Given the description of an element on the screen output the (x, y) to click on. 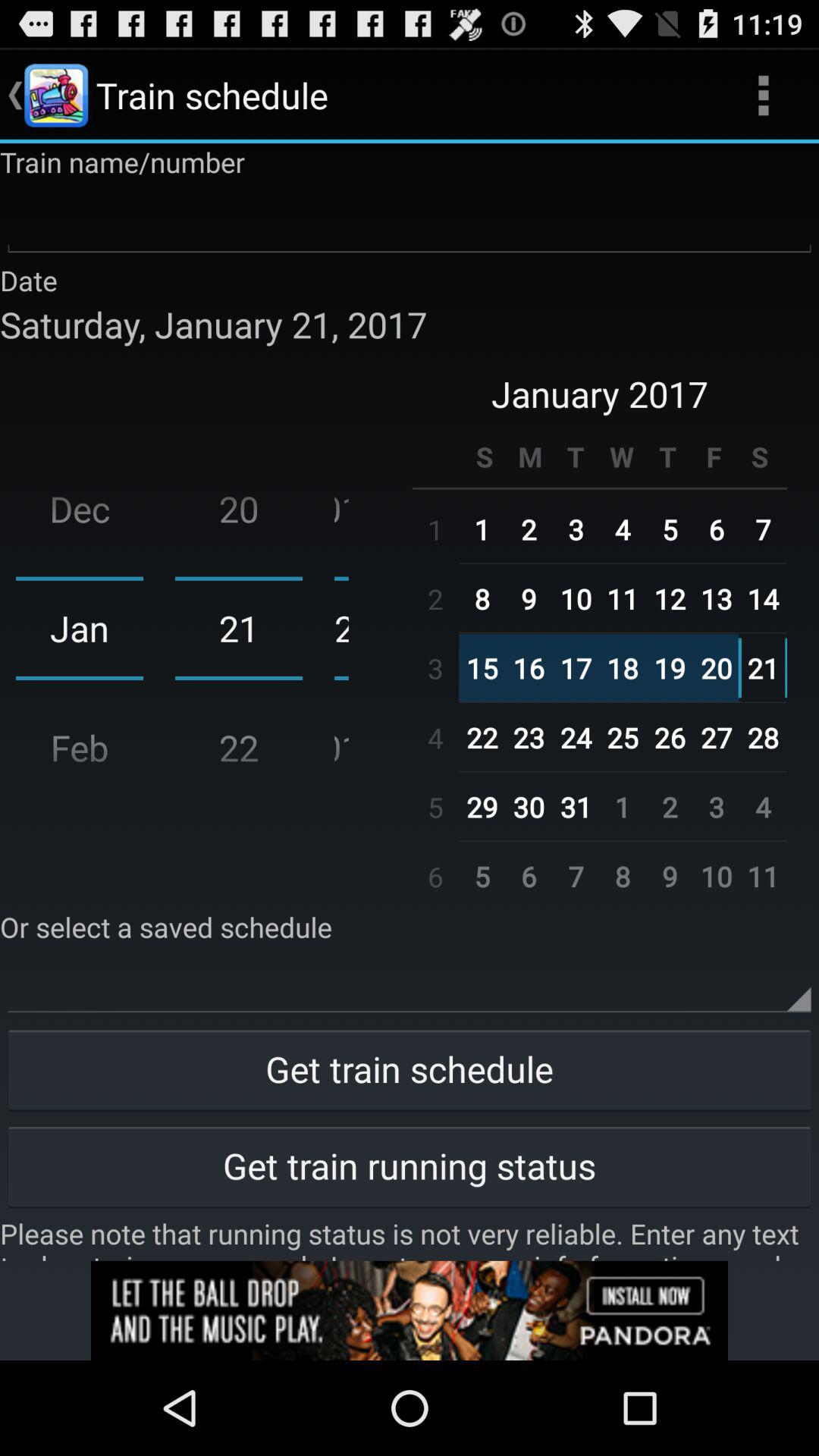
view the advertisement (409, 1310)
